Given the description of an element on the screen output the (x, y) to click on. 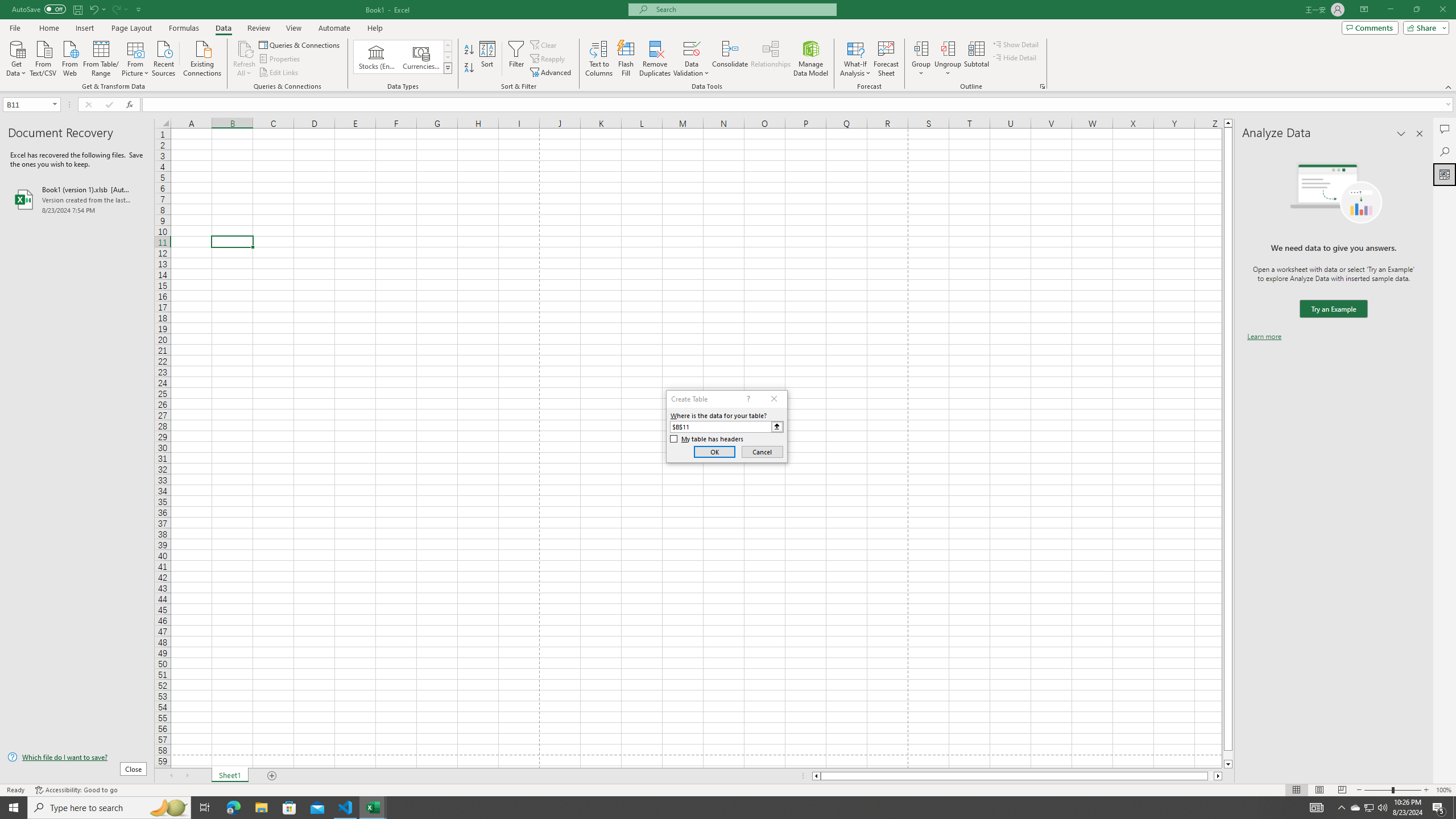
Hide Detail (1014, 56)
Filter (515, 58)
